Given the description of an element on the screen output the (x, y) to click on. 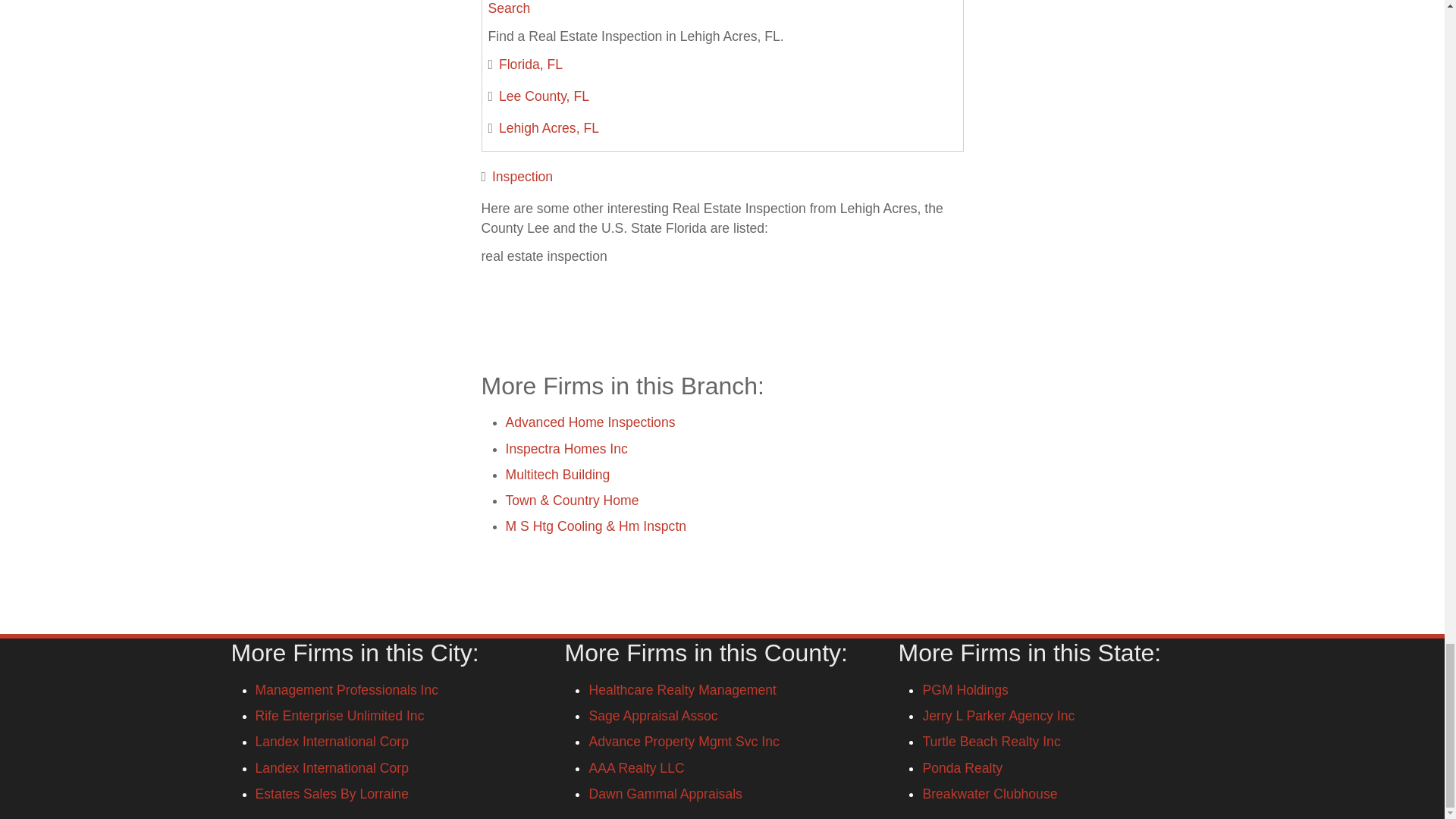
Lee County, FL (544, 96)
Lehigh Acres, FL (548, 127)
Multitech Building (557, 474)
Inspectra Homes Inc (566, 448)
Search (509, 7)
Inspection (522, 176)
Advanced Home Inspections (590, 421)
Florida, FL (530, 64)
